Given the description of an element on the screen output the (x, y) to click on. 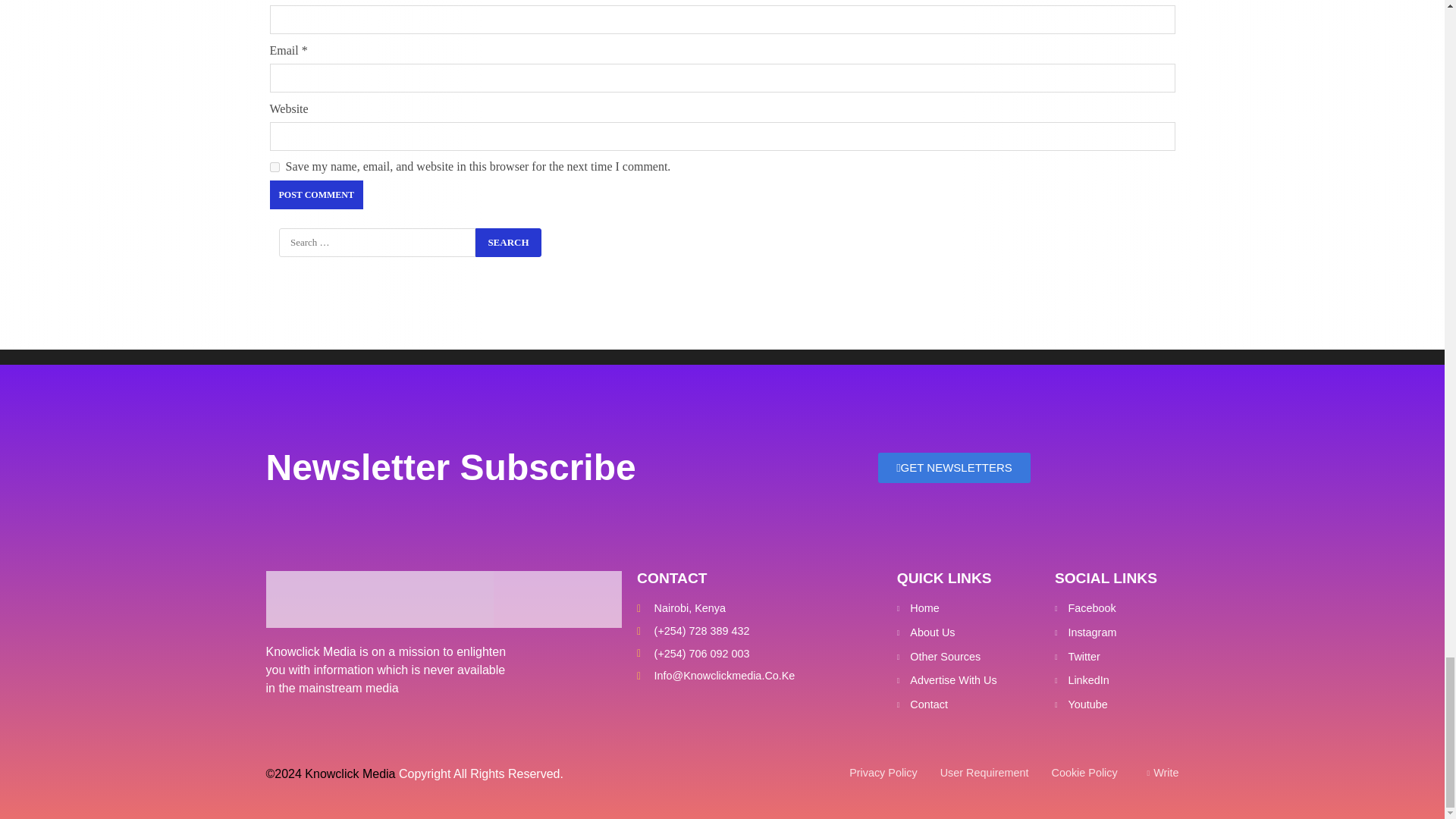
Post Comment (315, 194)
About Us (967, 632)
Advertise With Us (967, 680)
GET NEWSLETTERS (953, 467)
Post Comment (315, 194)
Search (508, 242)
yes (274, 166)
Other Sources (967, 657)
Home (967, 608)
Search (508, 242)
Search (508, 242)
Contact (967, 704)
Facebook (1115, 608)
